Given the description of an element on the screen output the (x, y) to click on. 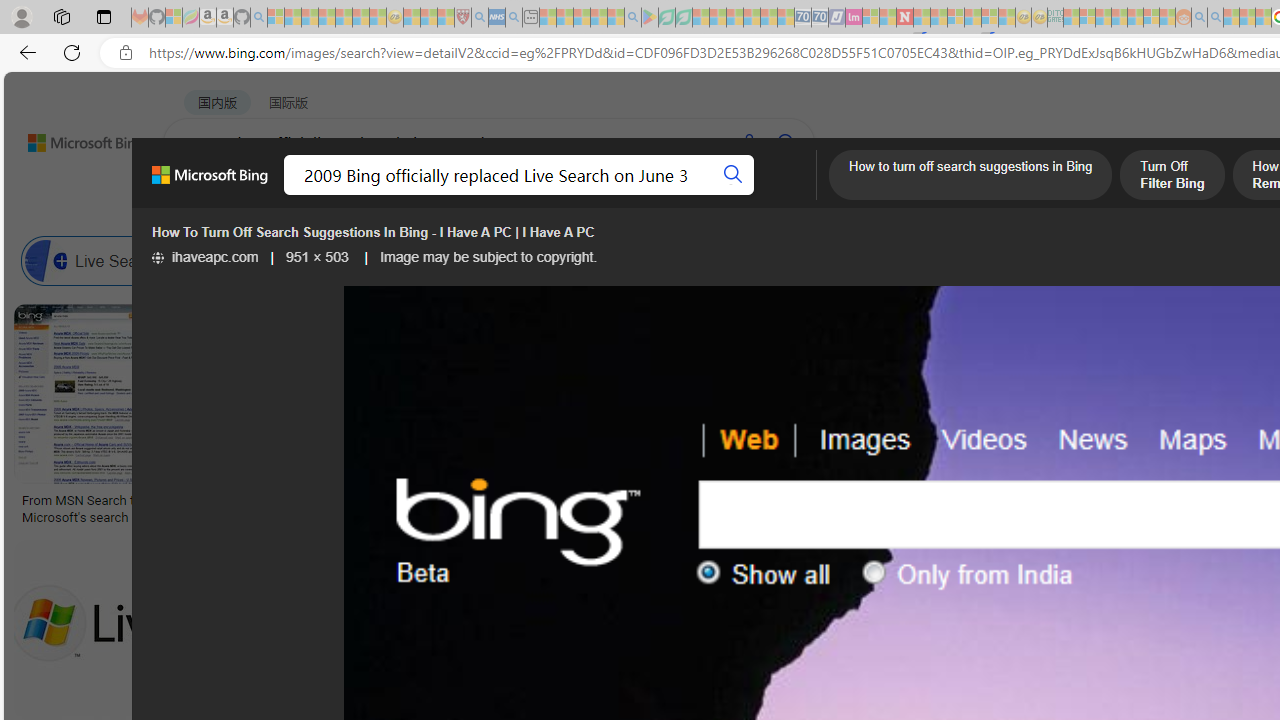
MY BING (276, 195)
Microsoft Live LogoSave (740, 417)
Turn Off Filter Bing (1171, 177)
Search button (732, 174)
Bing Best Search Engine (1115, 260)
Cheap Hotels - Save70.com - Sleeping (819, 17)
utah sues federal government - Search - Sleeping (513, 17)
Bing Word Search (710, 260)
Bing Ai Search Engine Powered (943, 260)
